Given the description of an element on the screen output the (x, y) to click on. 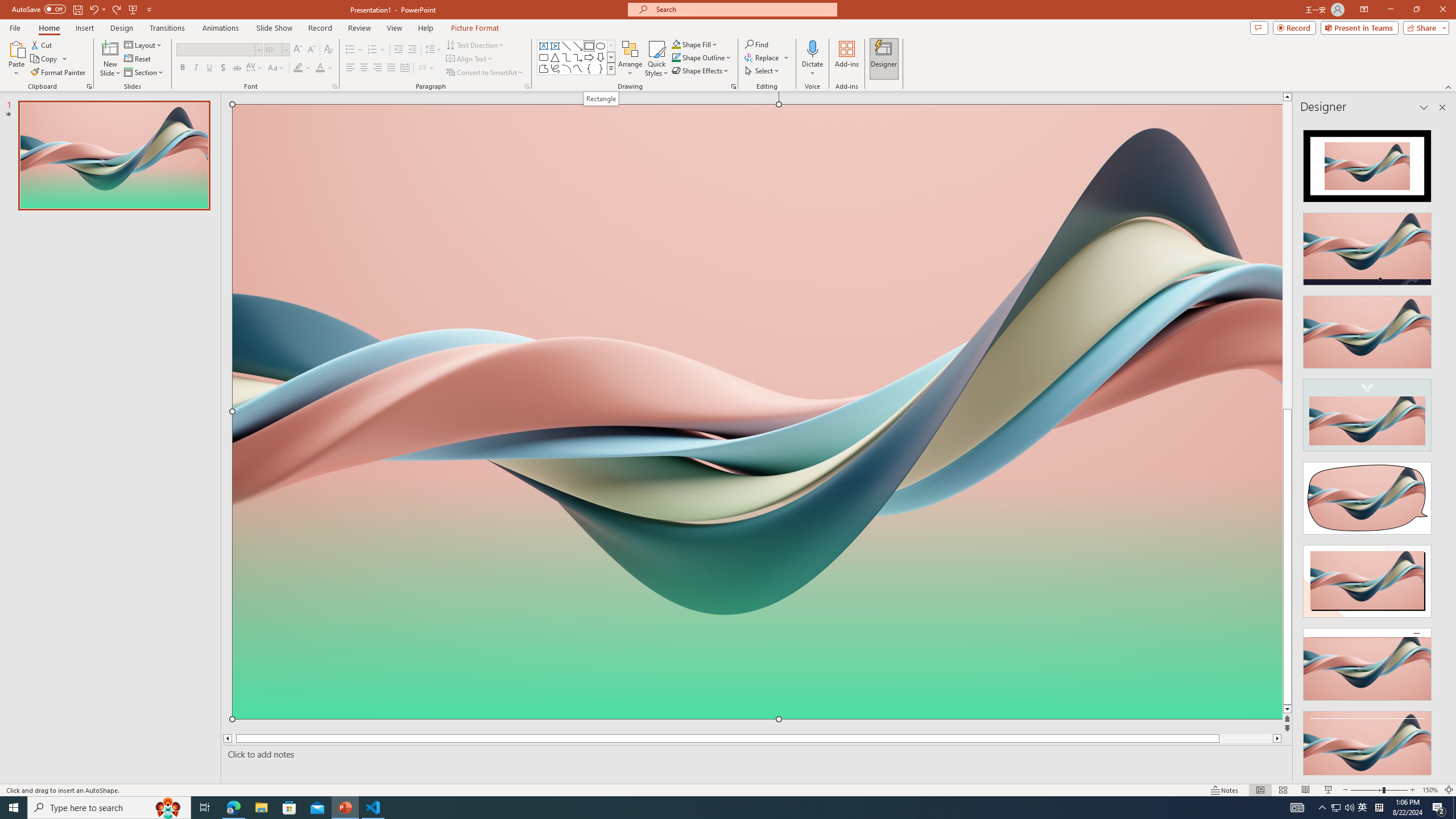
Class: NetUIScrollBar (1441, 447)
